Given the description of an element on the screen output the (x, y) to click on. 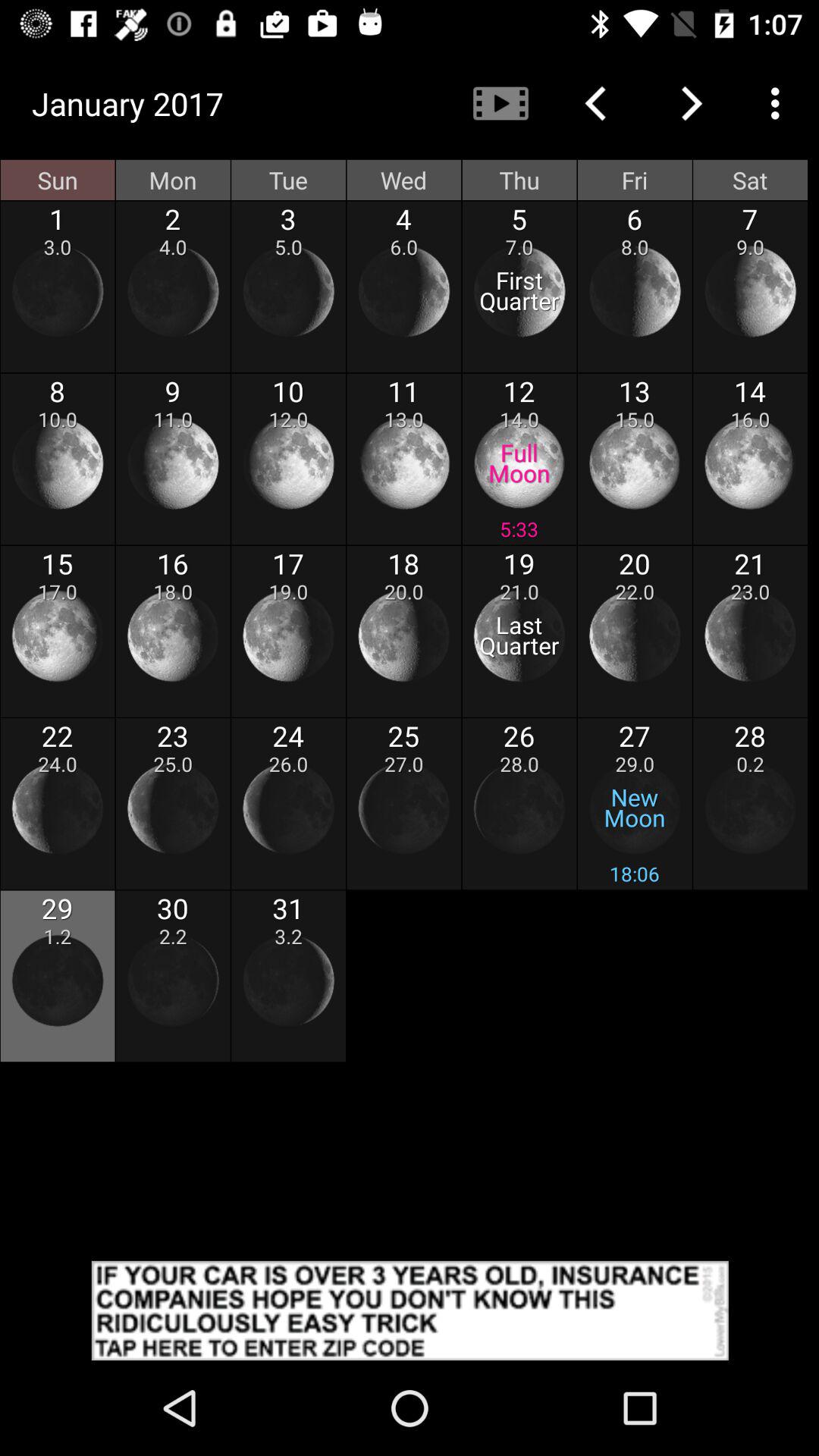
add banner (409, 1310)
